Given the description of an element on the screen output the (x, y) to click on. 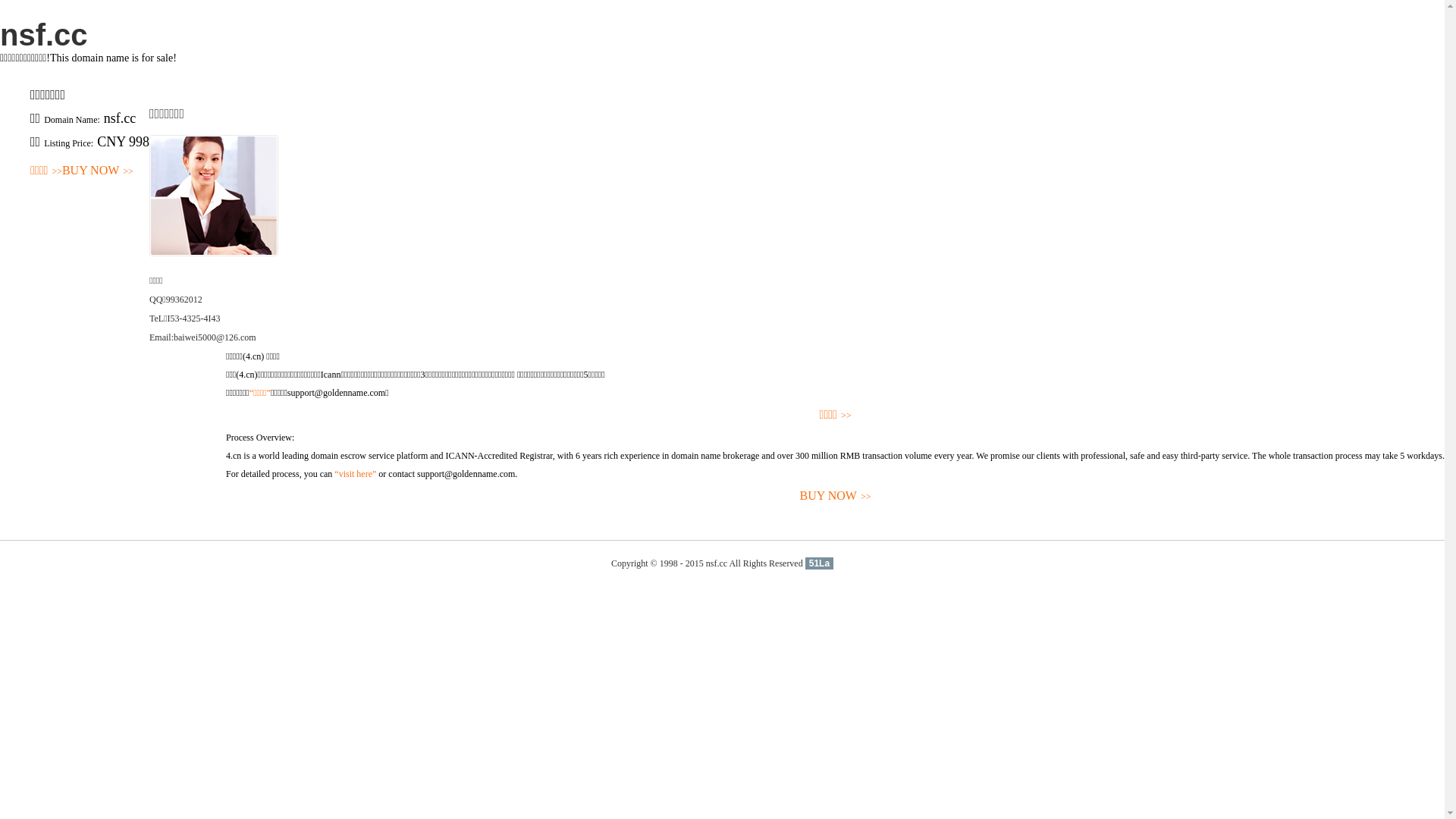
51La Element type: text (819, 563)
BUY NOW>> Element type: text (834, 496)
BUY NOW>> Element type: text (97, 170)
